Given the description of an element on the screen output the (x, y) to click on. 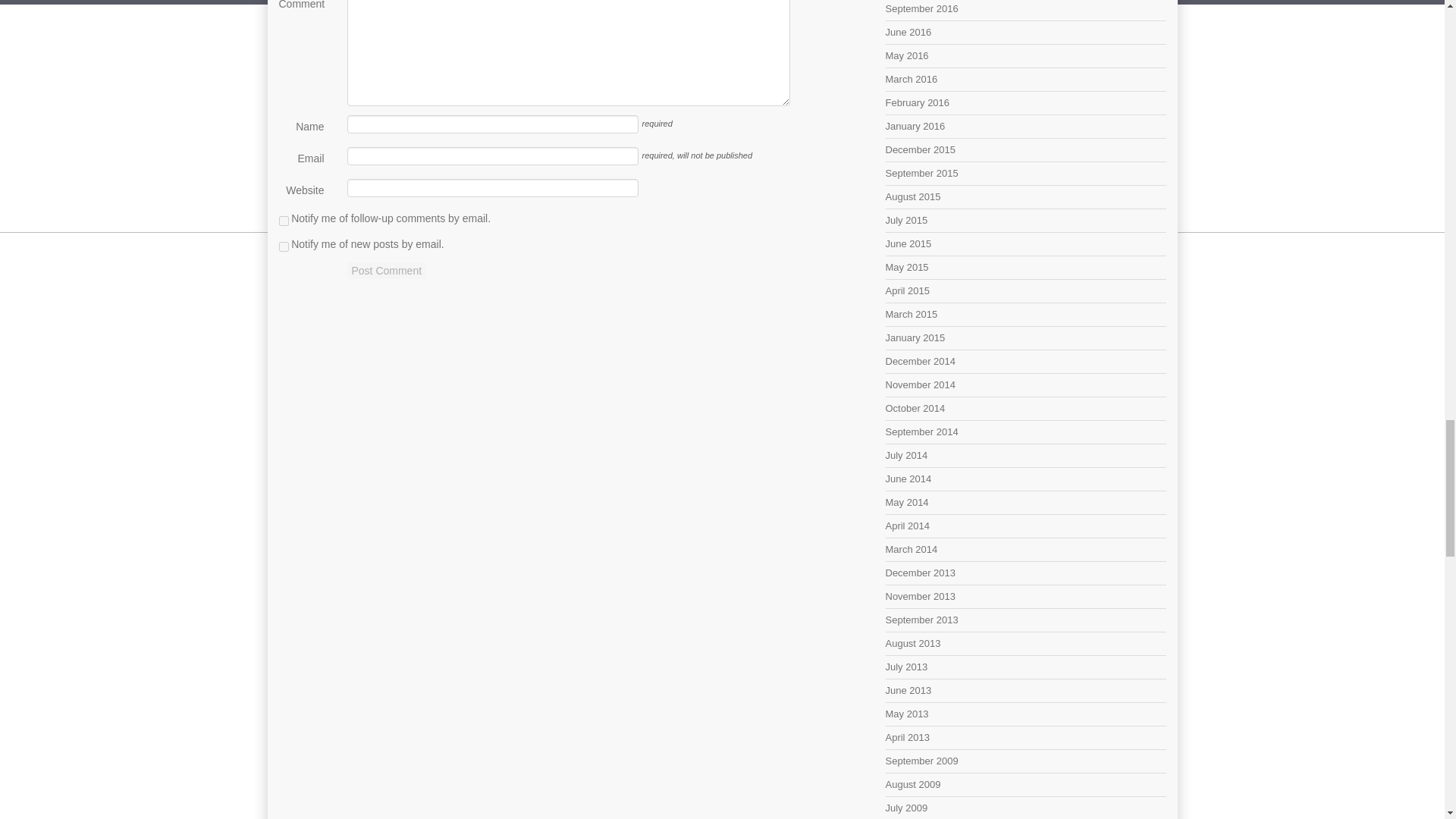
subscribe (283, 246)
subscribe (283, 221)
Post Comment (386, 270)
